Given the description of an element on the screen output the (x, y) to click on. 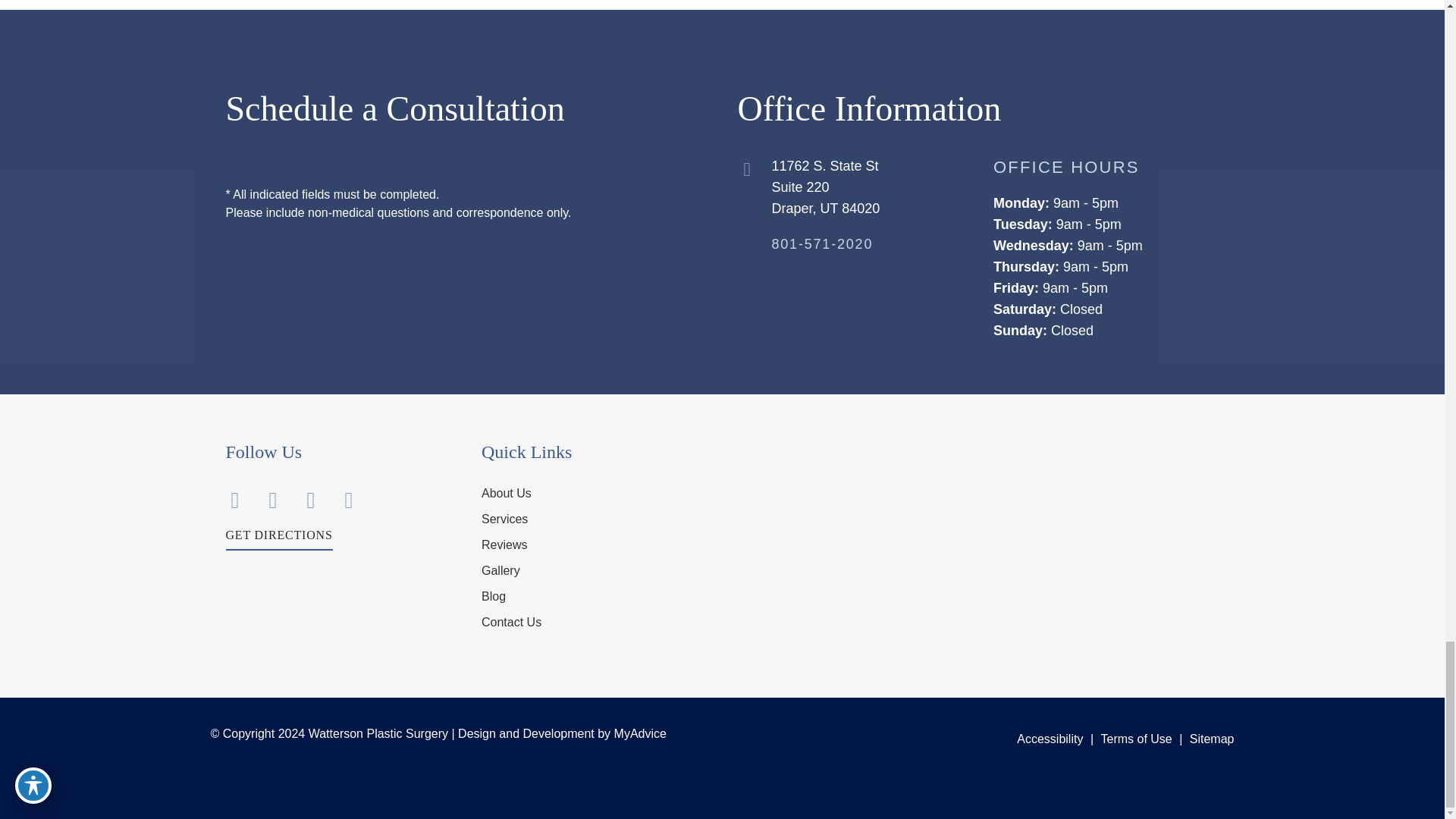
Map Location (977, 499)
